Given the description of an element on the screen output the (x, y) to click on. 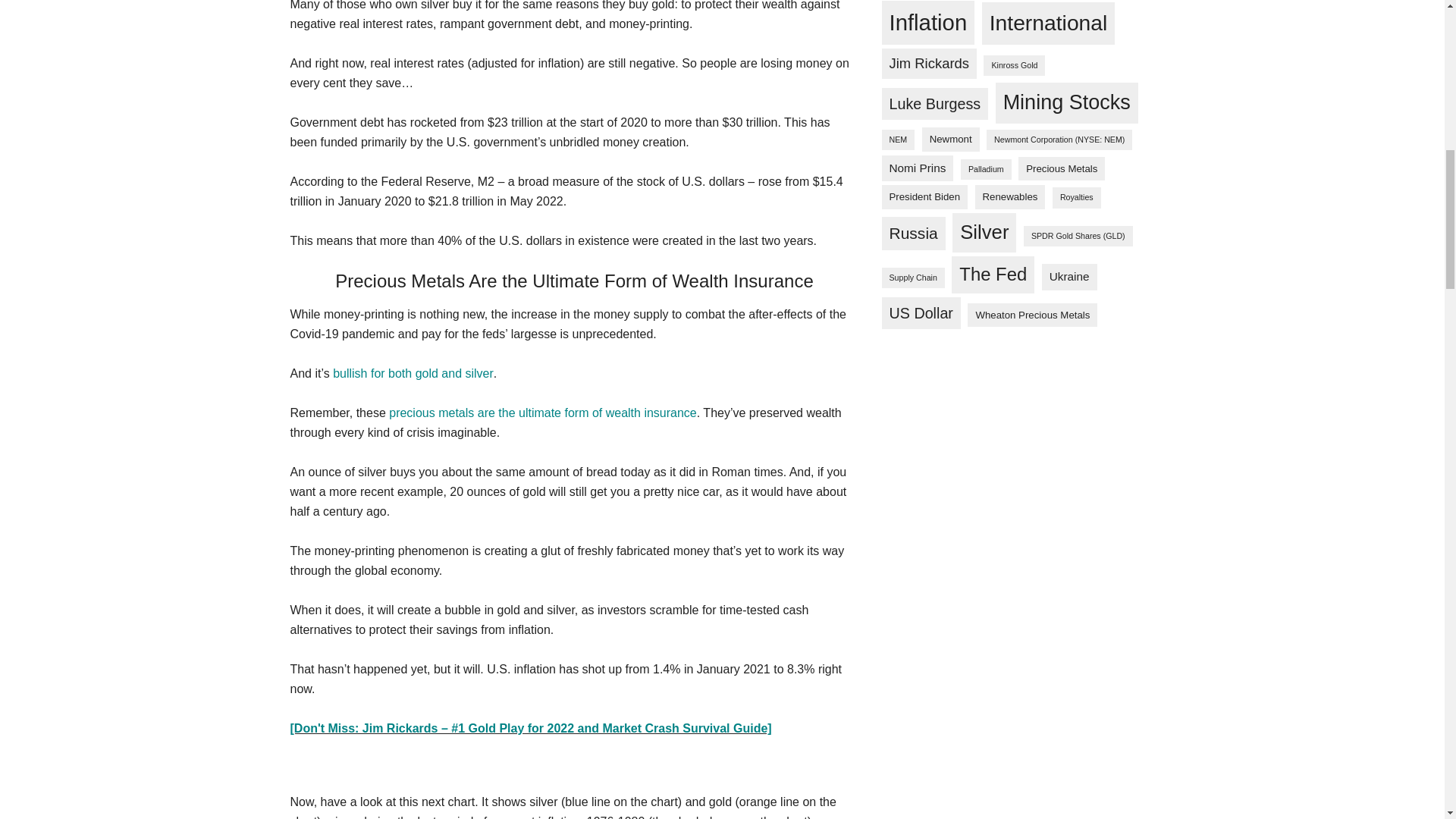
precious metals are the ultimate form of wealth insurance (542, 412)
bullish for both gold and silver (413, 373)
